Given the description of an element on the screen output the (x, y) to click on. 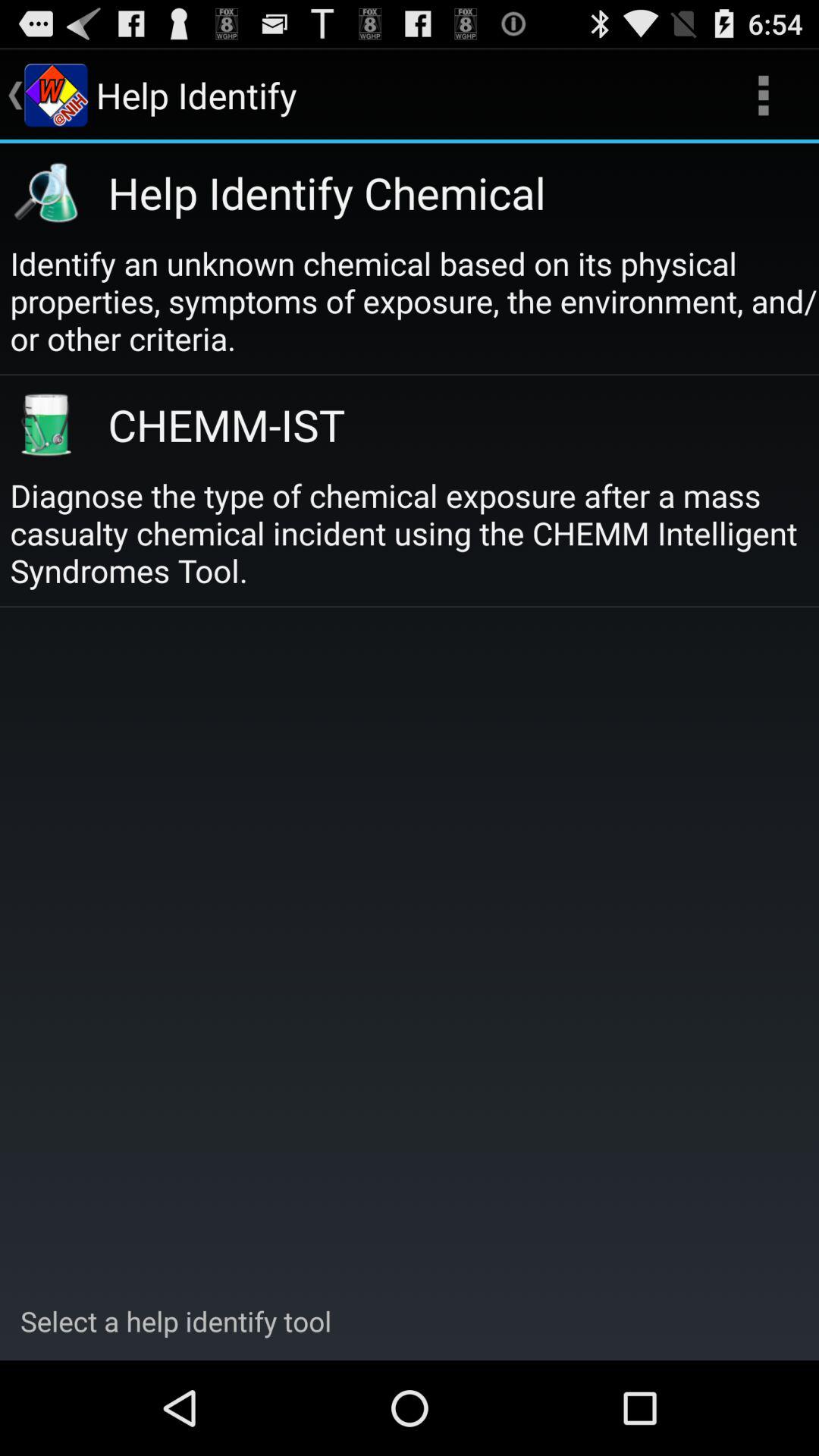
tap app above diagnose the type app (446, 424)
